Given the description of an element on the screen output the (x, y) to click on. 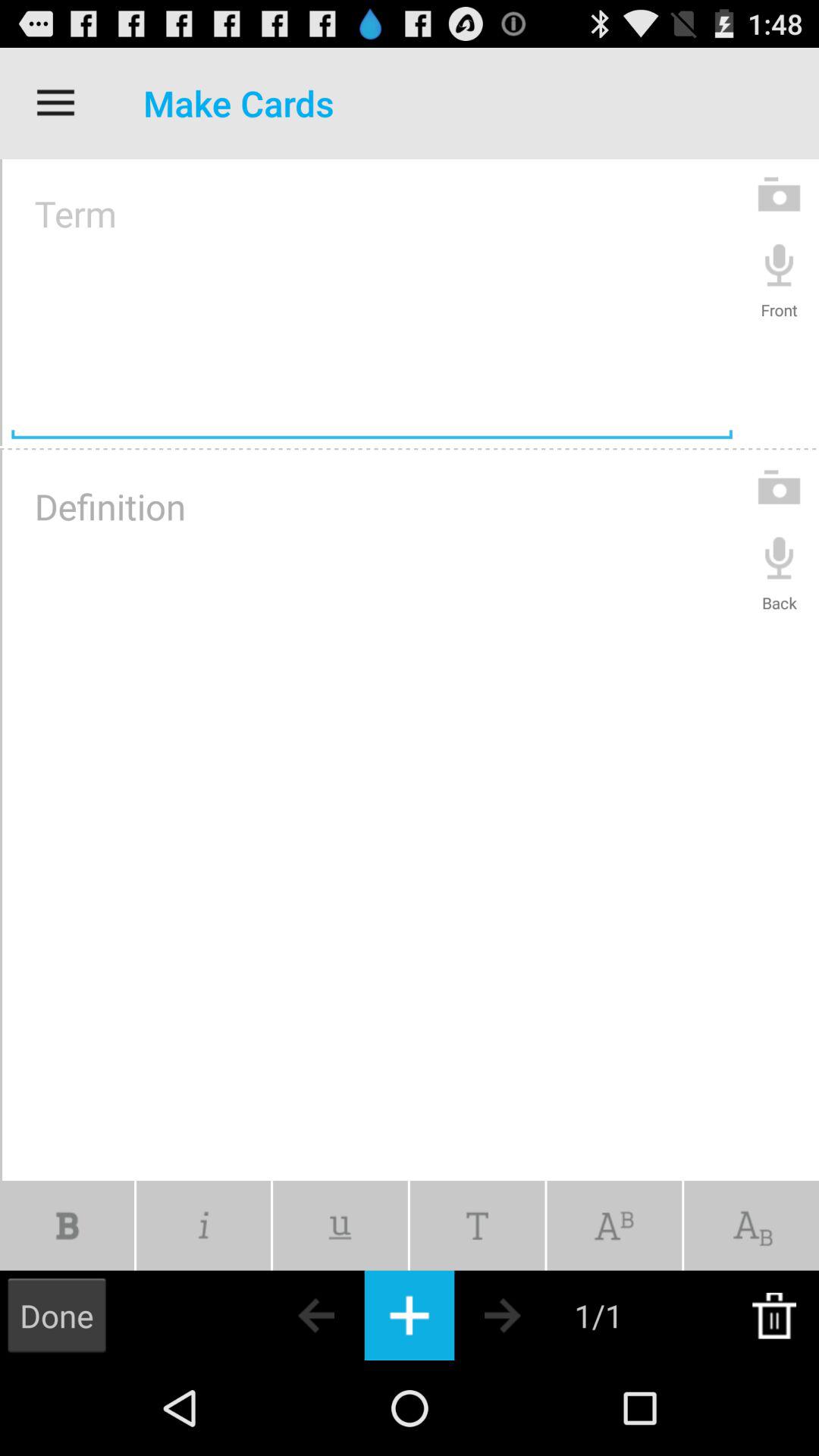
flip to the done (56, 1315)
